Given the description of an element on the screen output the (x, y) to click on. 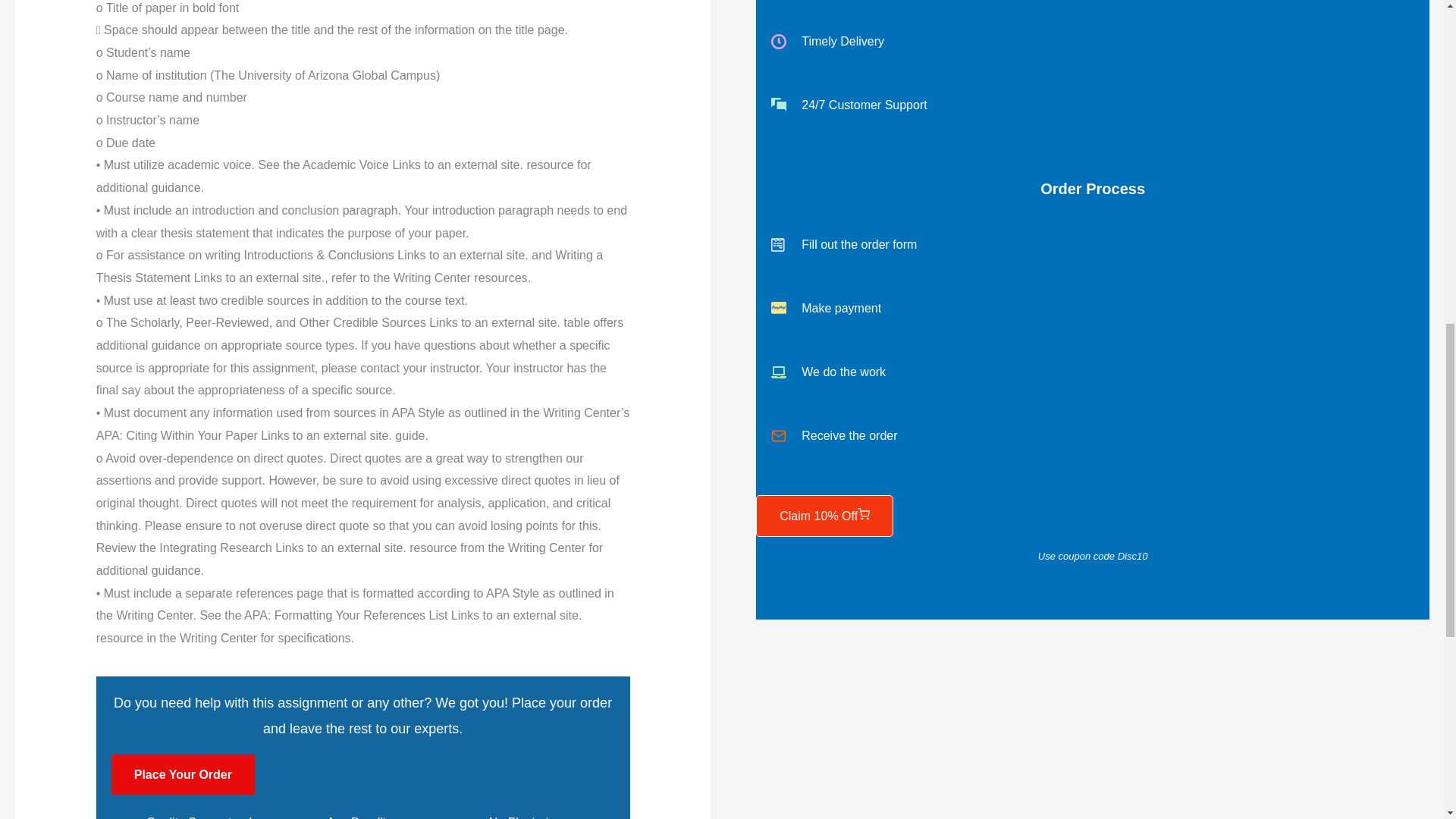
Fill out the order form (1092, 244)
Place Your Order (183, 774)
Timely Delivery (1092, 41)
